Given the description of an element on the screen output the (x, y) to click on. 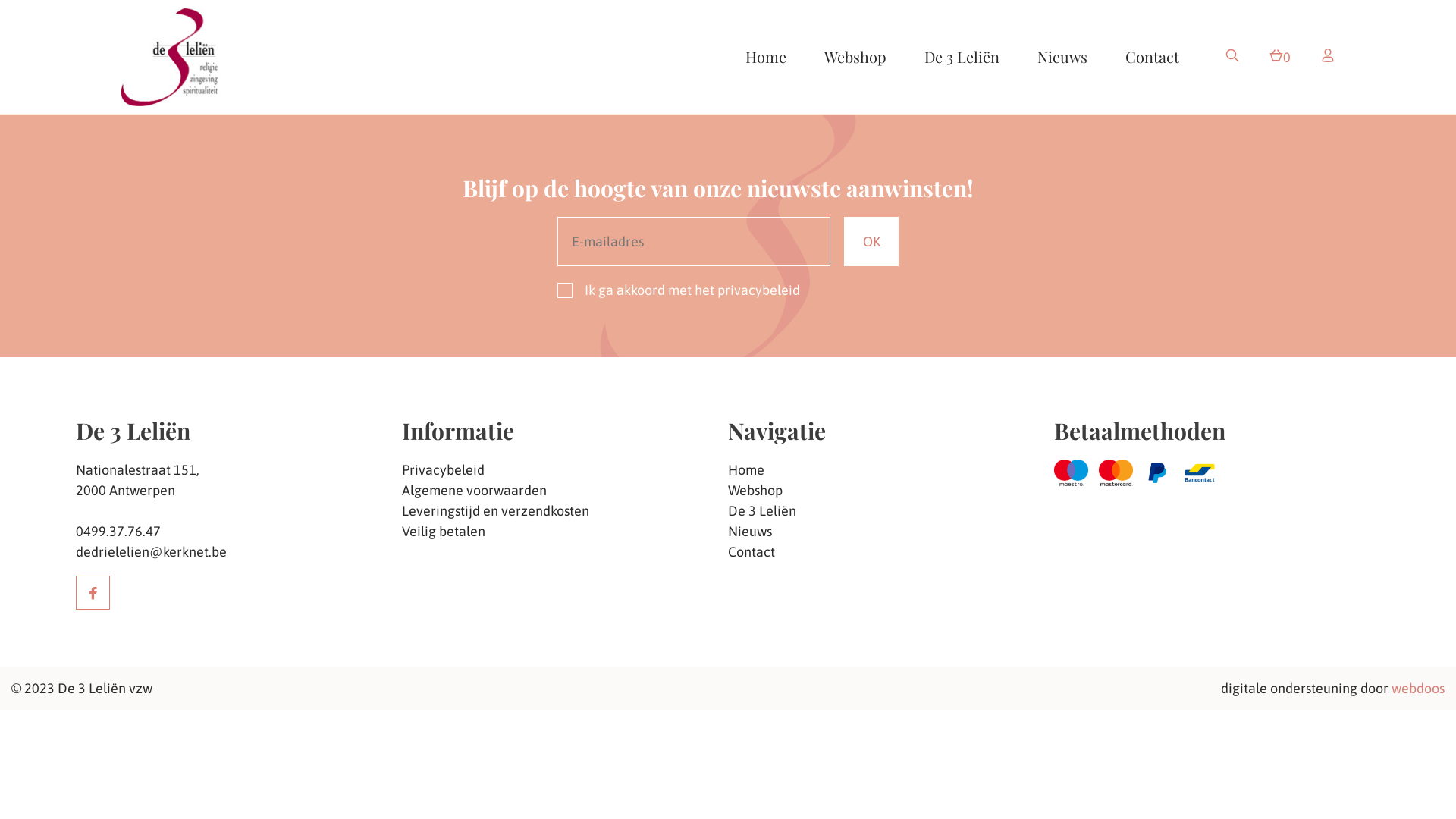
OK Element type: text (871, 241)
zoeken Element type: hover (1232, 56)
Home Element type: text (891, 469)
Inloggen Element type: hover (1327, 56)
Home Element type: text (765, 55)
Contact Element type: text (1152, 55)
Nieuws Element type: text (1062, 55)
Contact Element type: text (891, 551)
Privacybeleid Element type: text (564, 469)
Algemene voorwaarden Element type: text (564, 490)
webdoos Element type: text (1417, 688)
Veilig betalen Element type: text (564, 530)
Nieuws Element type: text (891, 530)
0 Element type: text (1279, 56)
Webshop Element type: text (891, 490)
Leveringstijd en verzendkosten Element type: text (564, 510)
Webshop Element type: text (855, 55)
het privacybeleid Element type: text (747, 290)
dedrielelien@kerknet.be Element type: text (150, 551)
